Given the description of an element on the screen output the (x, y) to click on. 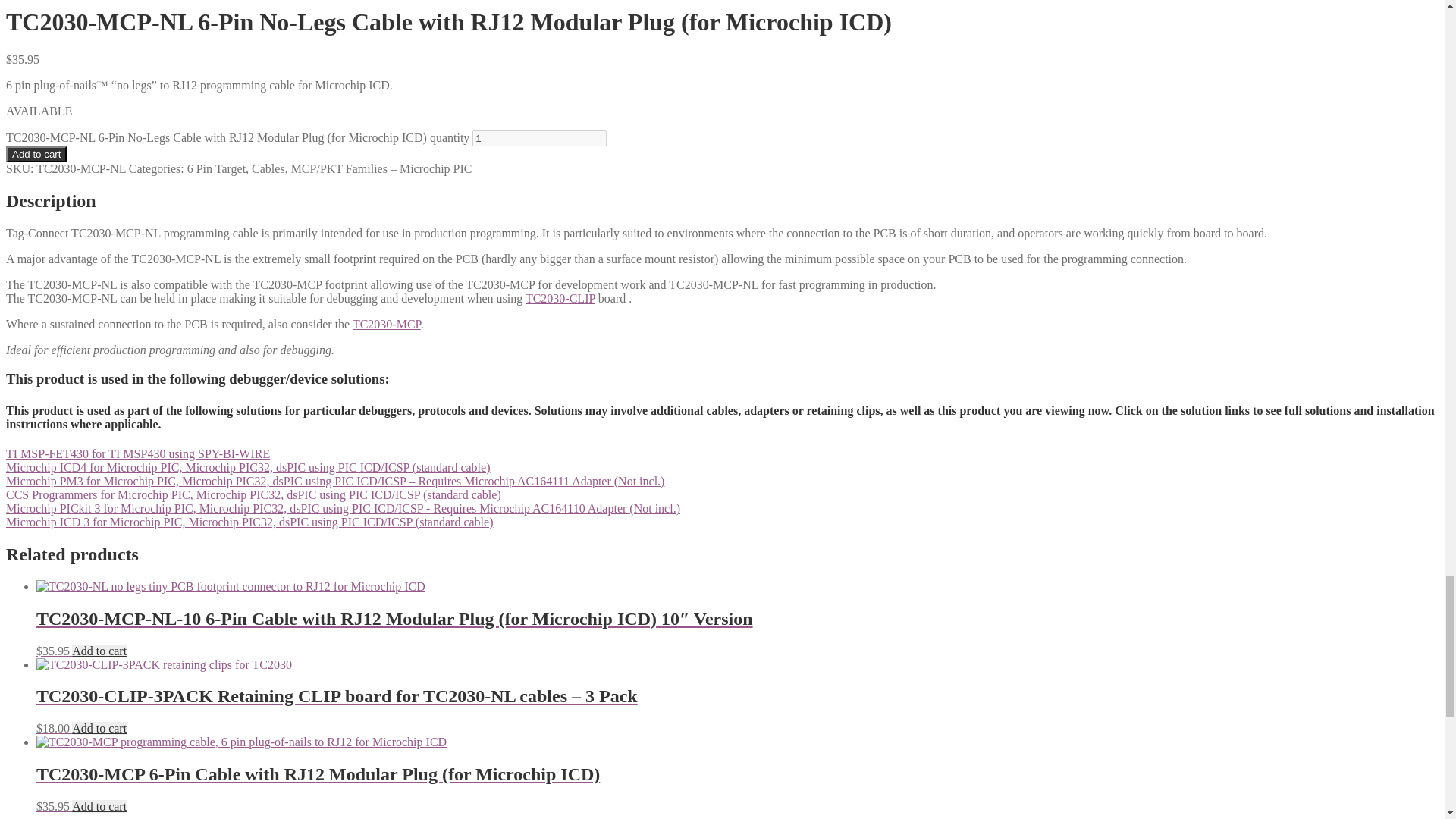
Qty (539, 138)
1 (539, 138)
